Given the description of an element on the screen output the (x, y) to click on. 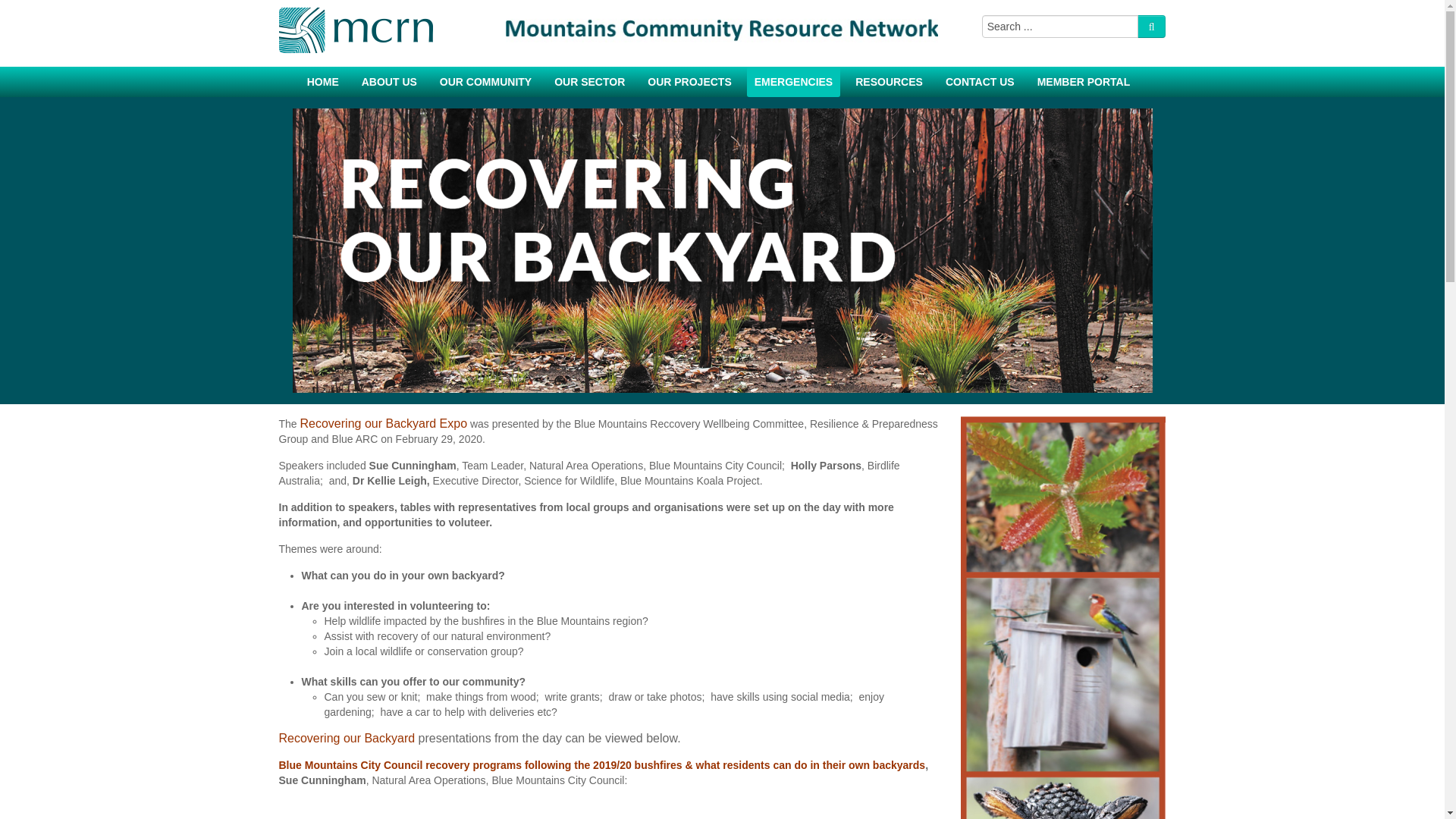
OUR PROJECTS (689, 81)
EMERGENCIES (793, 81)
OUR SECTOR (589, 81)
ABOUT US (389, 81)
JoomlaWorks AllVideos Player (609, 809)
HOME (322, 81)
OUR COMMUNITY (485, 81)
Search ... (1059, 26)
